Given the description of an element on the screen output the (x, y) to click on. 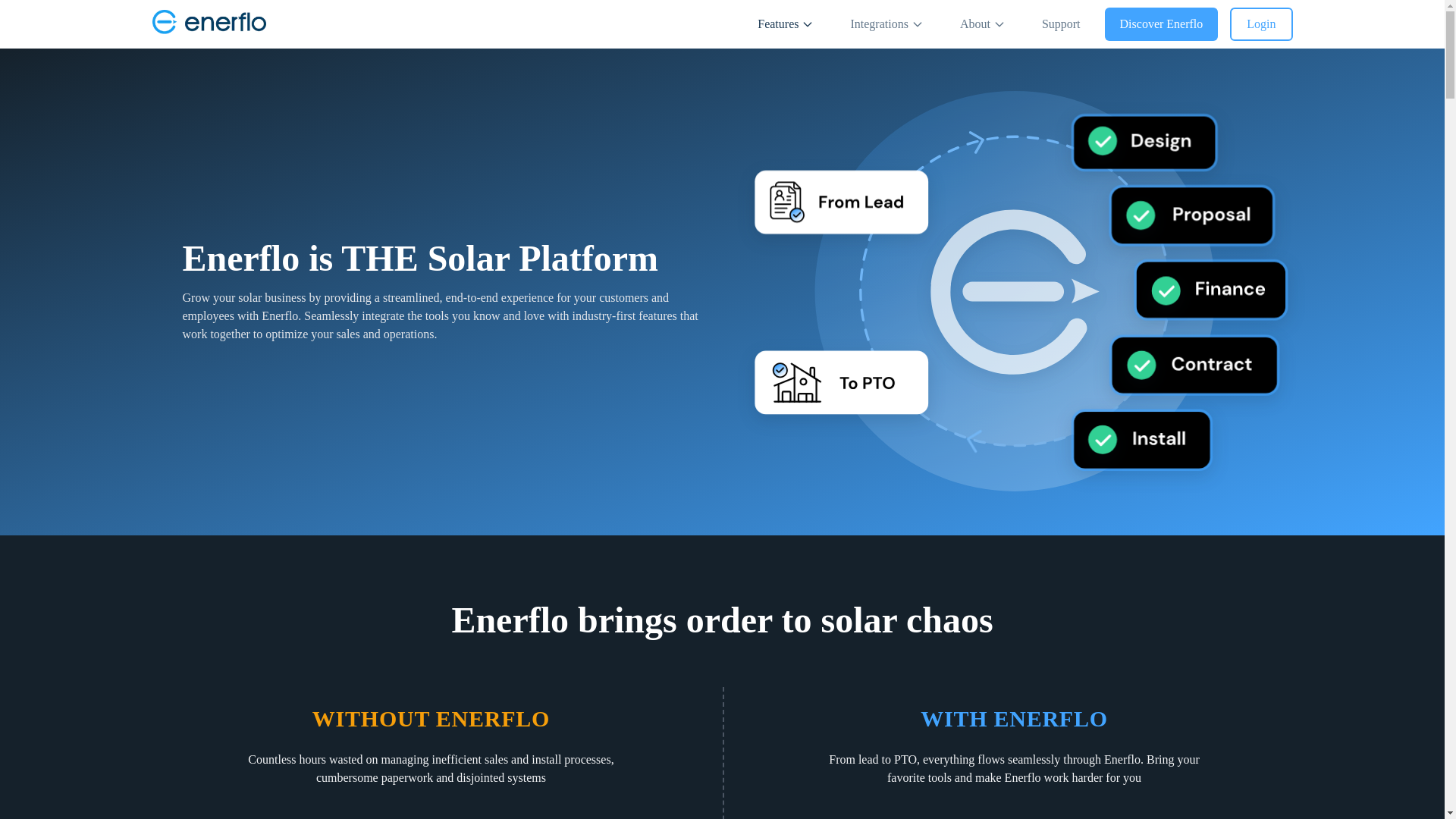
Integrations (886, 23)
Login (1261, 23)
Support (1061, 23)
Features (785, 23)
About (982, 23)
Discover Enerflo (1161, 23)
